Given the description of an element on the screen output the (x, y) to click on. 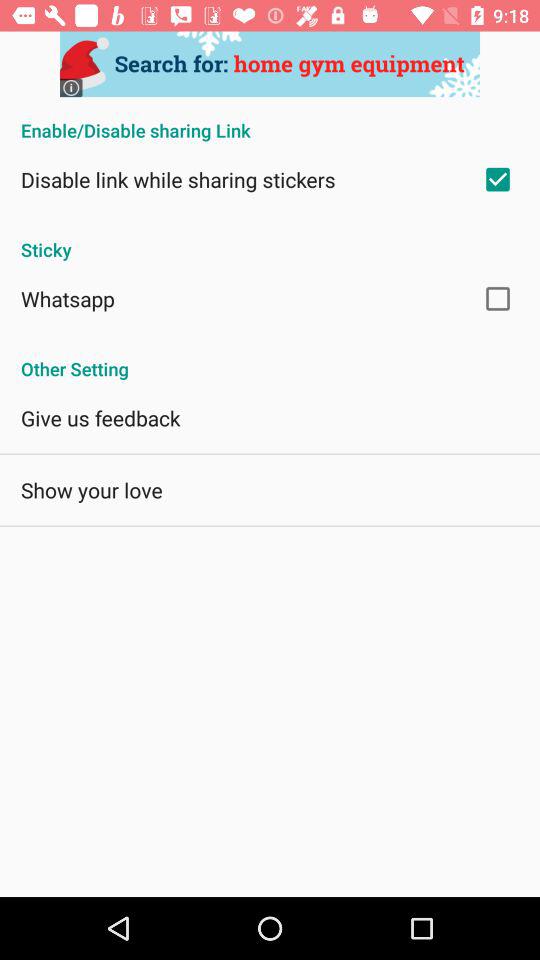
select icon above the give us feedback app (270, 358)
